Given the description of an element on the screen output the (x, y) to click on. 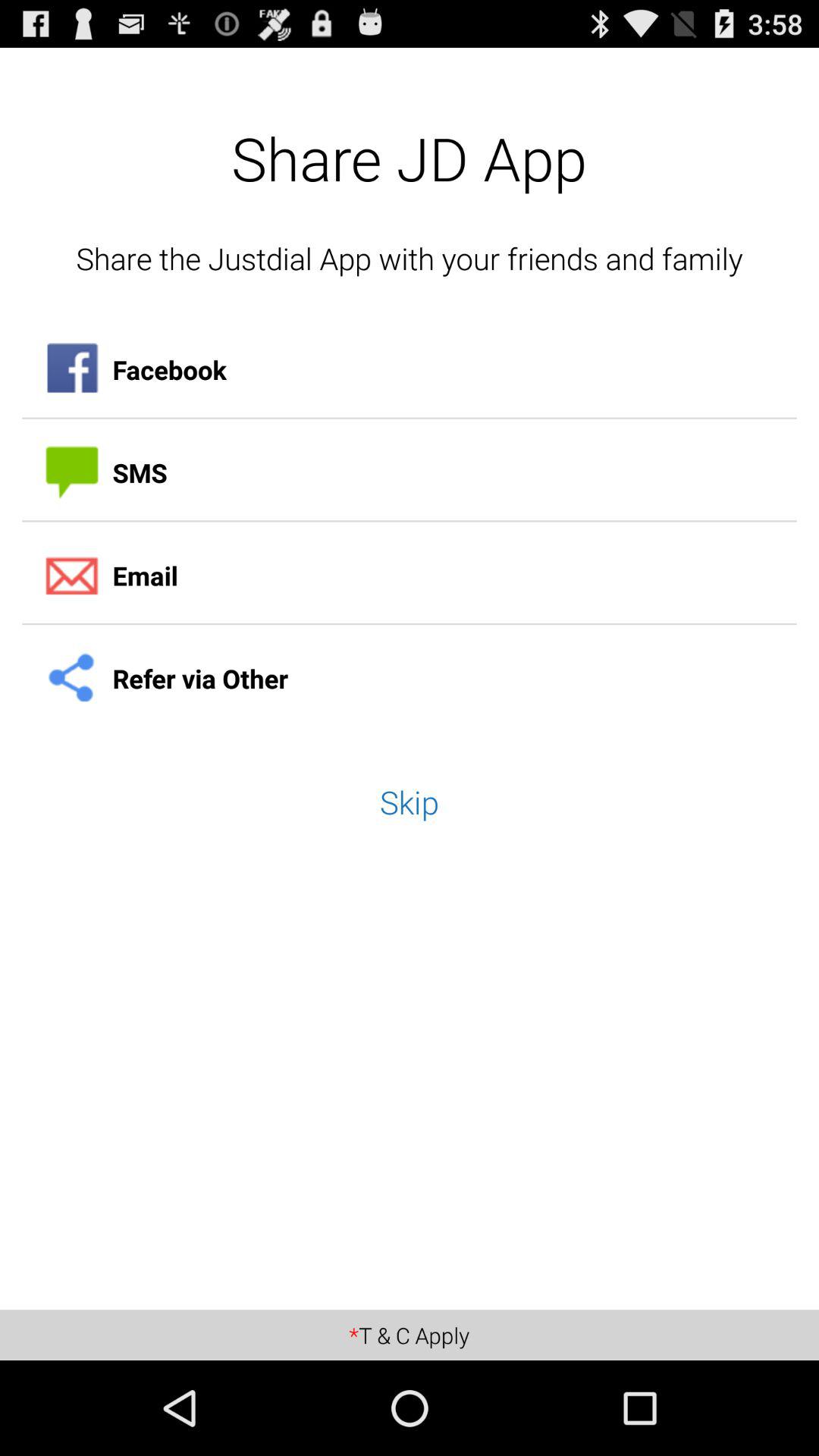
swipe to the facebook icon (409, 369)
